Given the description of an element on the screen output the (x, y) to click on. 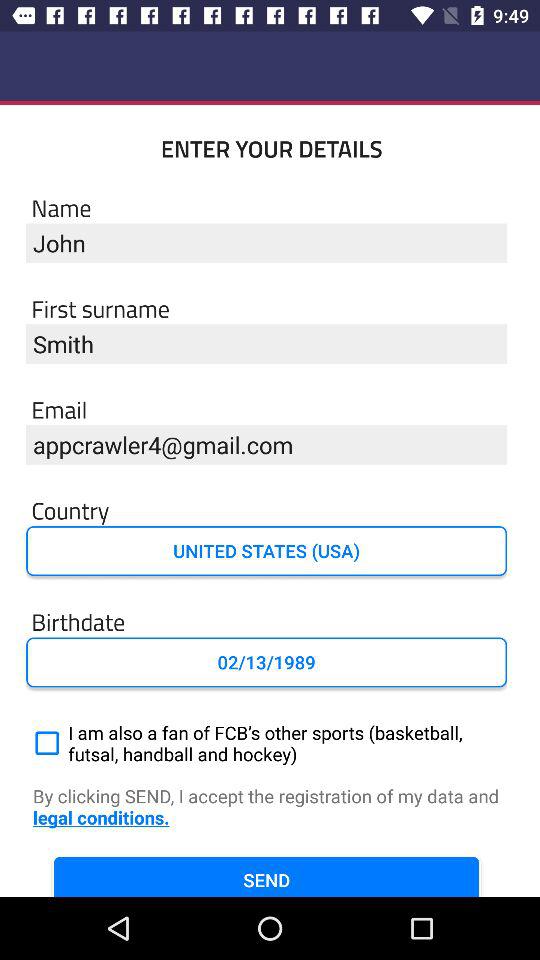
open item below the 02/13/1989 item (266, 743)
